Given the description of an element on the screen output the (x, y) to click on. 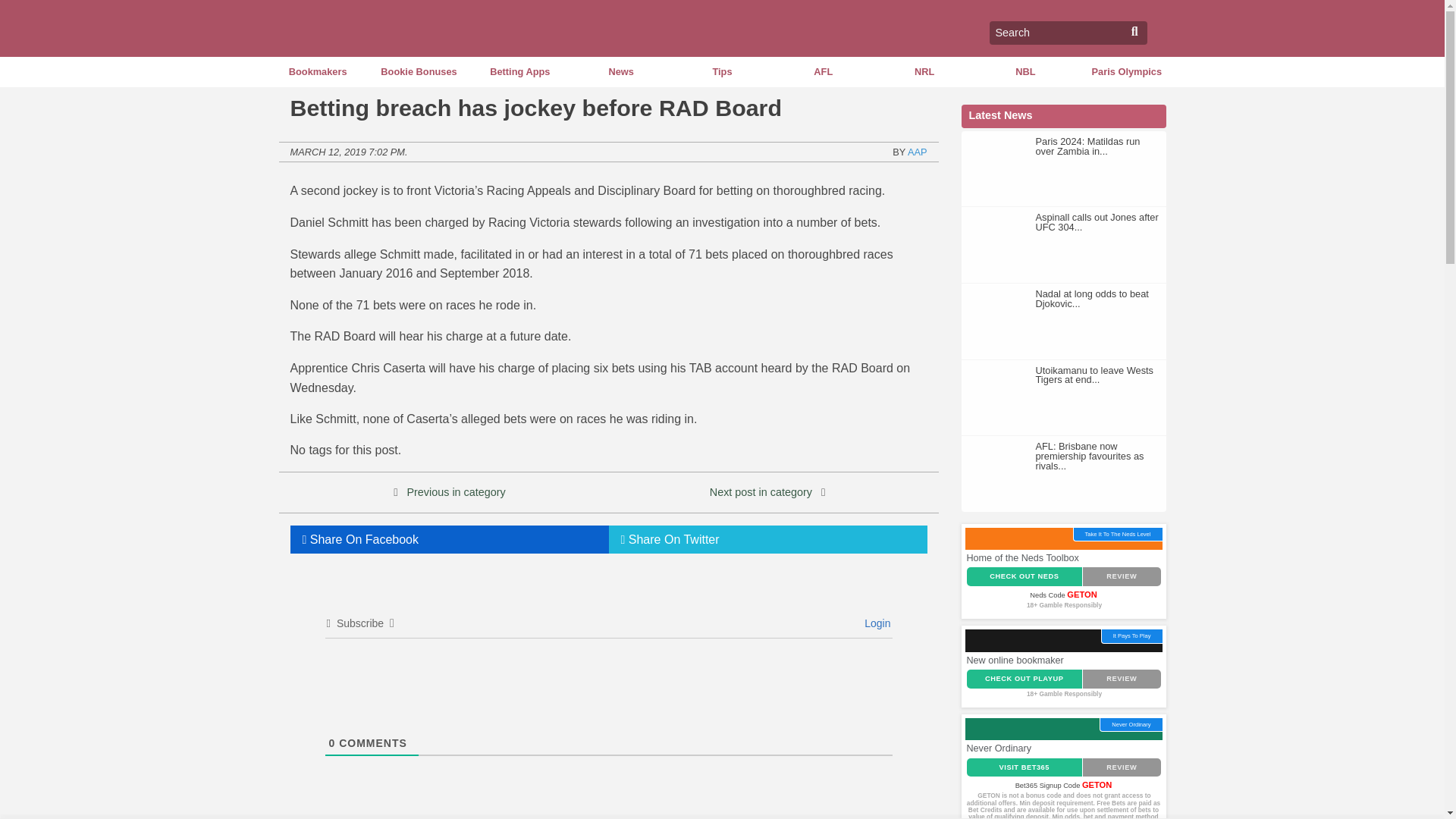
Next post in category (761, 491)
Bookie Bonuses (418, 71)
AFL (823, 71)
Betting Apps (519, 71)
Betting Apps (519, 71)
Share On Facebook (448, 539)
Share On Twitter (767, 539)
Tips (722, 71)
News (620, 71)
Login (874, 623)
AFL (823, 71)
NBL (1025, 71)
NRL (923, 71)
AAP (917, 152)
Previous in category (455, 491)
